Given the description of an element on the screen output the (x, y) to click on. 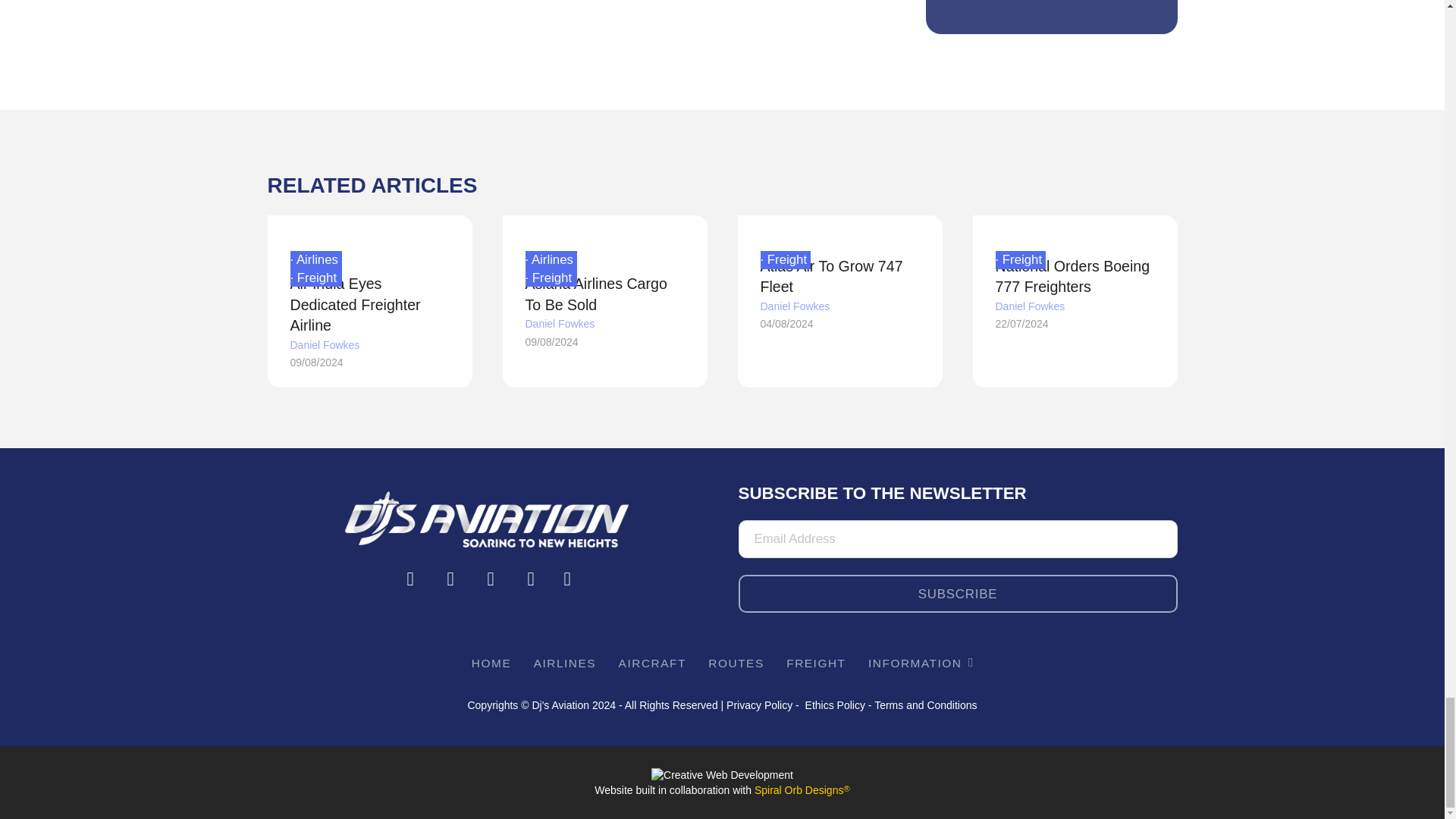
SUBSCRIBE (957, 593)
SUBSCRIBE (957, 593)
HOME (490, 663)
